Given the description of an element on the screen output the (x, y) to click on. 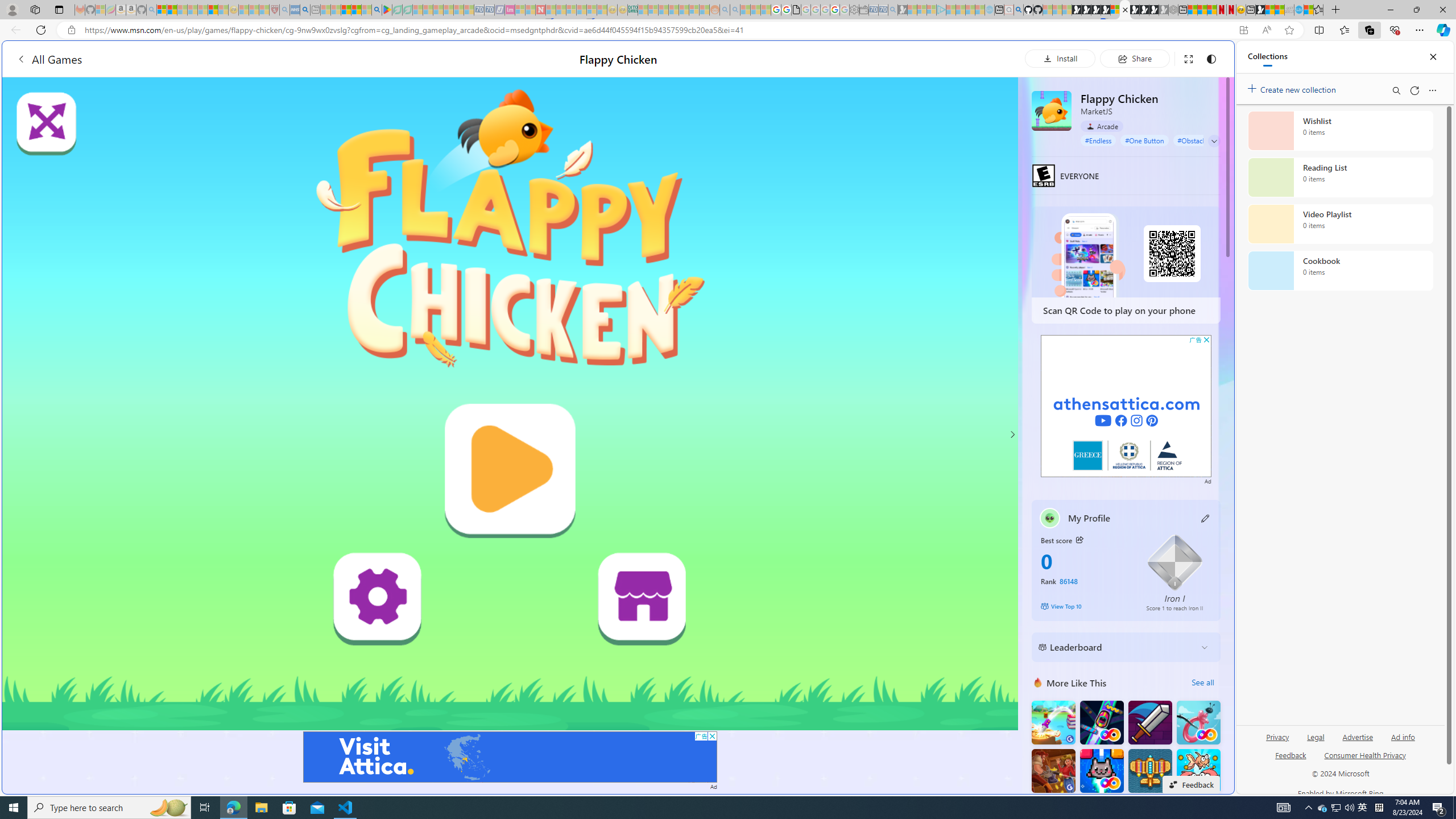
Change to dark mode (1211, 58)
Install (1060, 58)
Advertisement (1126, 405)
Create new collection (1293, 87)
Advertisement (1126, 405)
